Given the description of an element on the screen output the (x, y) to click on. 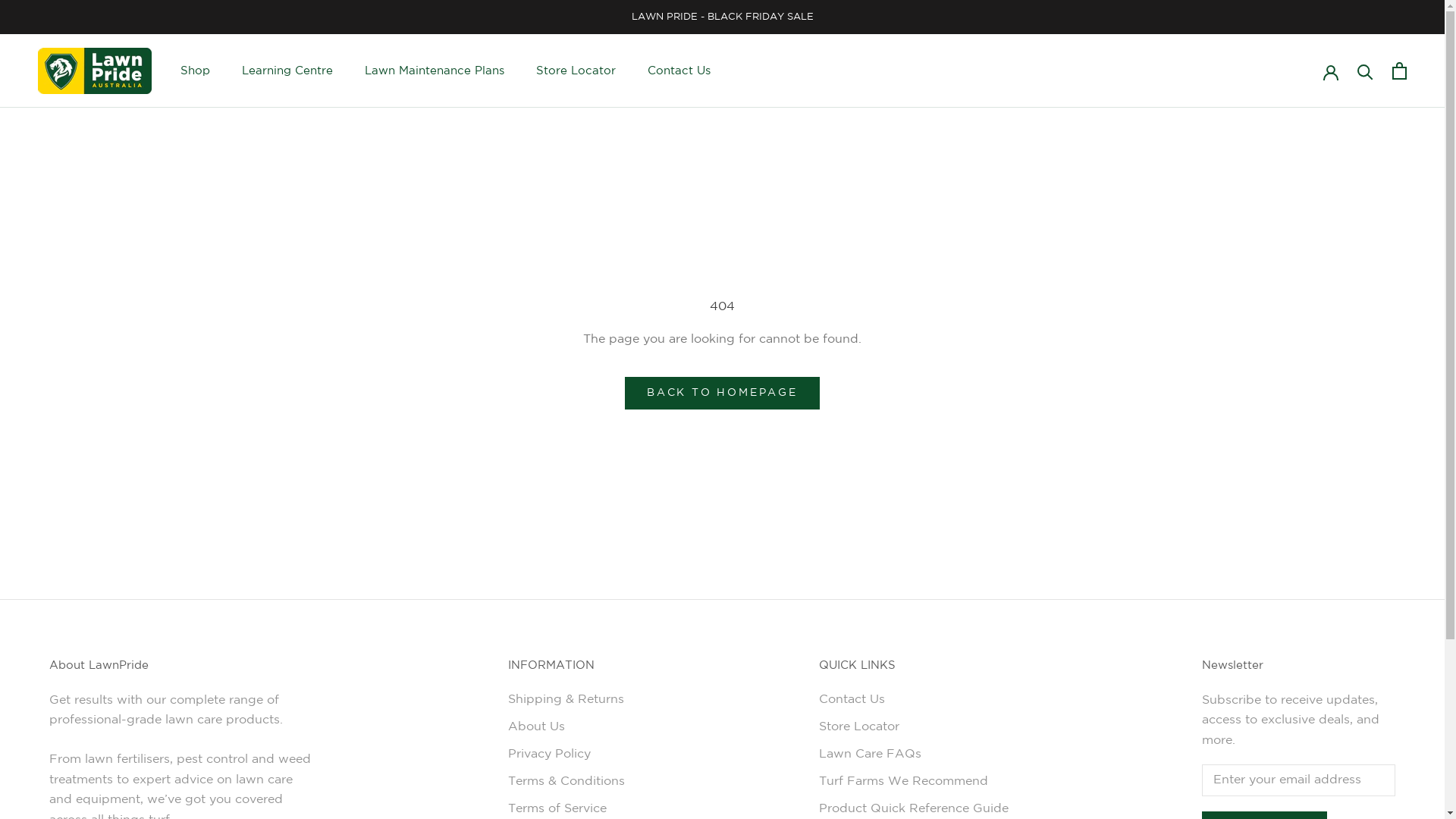
Lawn Maintenance Plans Element type: text (434, 70)
Terms of Service Element type: text (566, 809)
Privacy Policy Element type: text (566, 754)
Contact Us Element type: text (913, 699)
LAWN PRIDE - BLACK FRIDAY SALE Element type: text (721, 16)
Store Locator
Store Locator Element type: text (575, 70)
About Us Element type: text (566, 727)
Terms & Conditions Element type: text (566, 781)
Store Locator Element type: text (913, 727)
Product Quick Reference Guide Element type: text (913, 809)
Learning Centre Element type: text (286, 70)
Shop
Shop Element type: text (195, 70)
Turf Farms We Recommend Element type: text (913, 781)
Contact Us
Contact Us Element type: text (678, 70)
Lawn Care FAQs Element type: text (913, 754)
BACK TO HOMEPAGE Element type: text (721, 392)
Shipping & Returns Element type: text (566, 699)
